Given the description of an element on the screen output the (x, y) to click on. 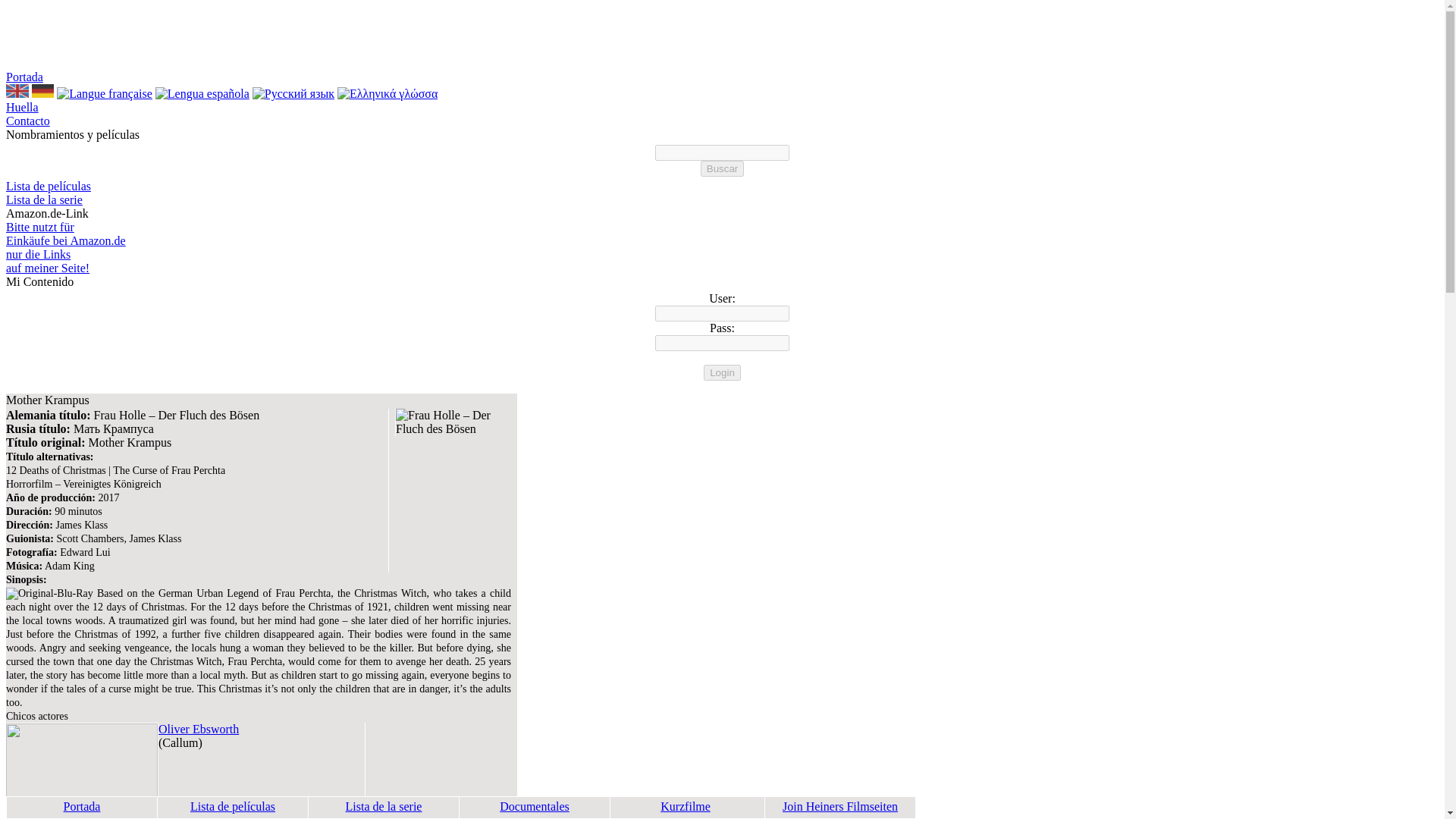
Join Heiners Filmseiten (840, 806)
English language (17, 90)
Lista de la serie (43, 199)
Documentales (534, 806)
Login (722, 372)
Huella (22, 106)
Kurzfilme (685, 806)
Oliver Ebsworth (198, 728)
Lista de la serie (384, 806)
Buscar (722, 168)
